Given the description of an element on the screen output the (x, y) to click on. 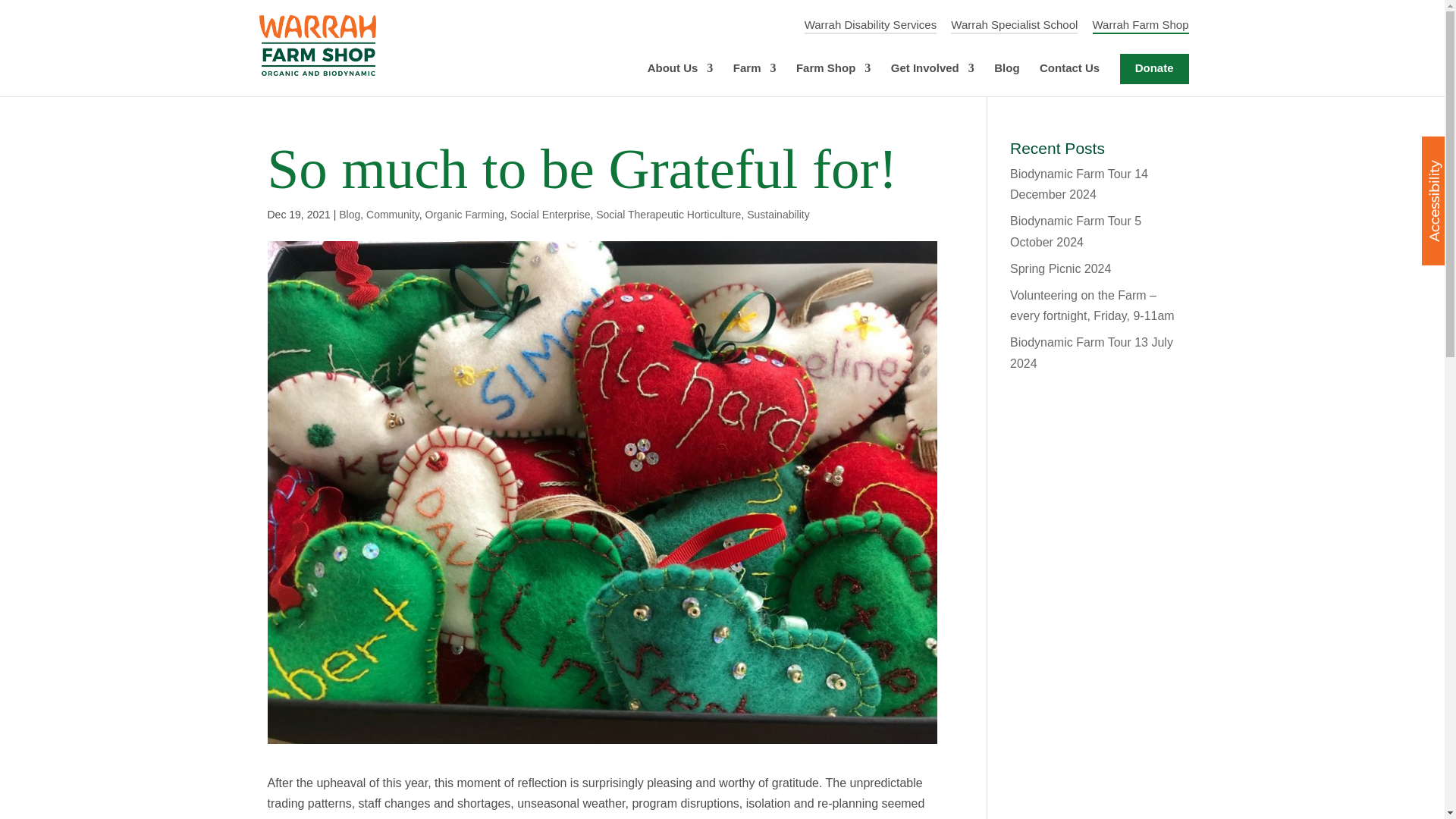
About Us (680, 79)
Warrah Disability Services (871, 26)
Warrah Specialist School (1013, 26)
Farm Shop (833, 79)
Get Involved (932, 79)
Contact Us (1069, 79)
Warrah Farm Shop (1141, 26)
Donate (1154, 69)
Farm (754, 79)
